Given the description of an element on the screen output the (x, y) to click on. 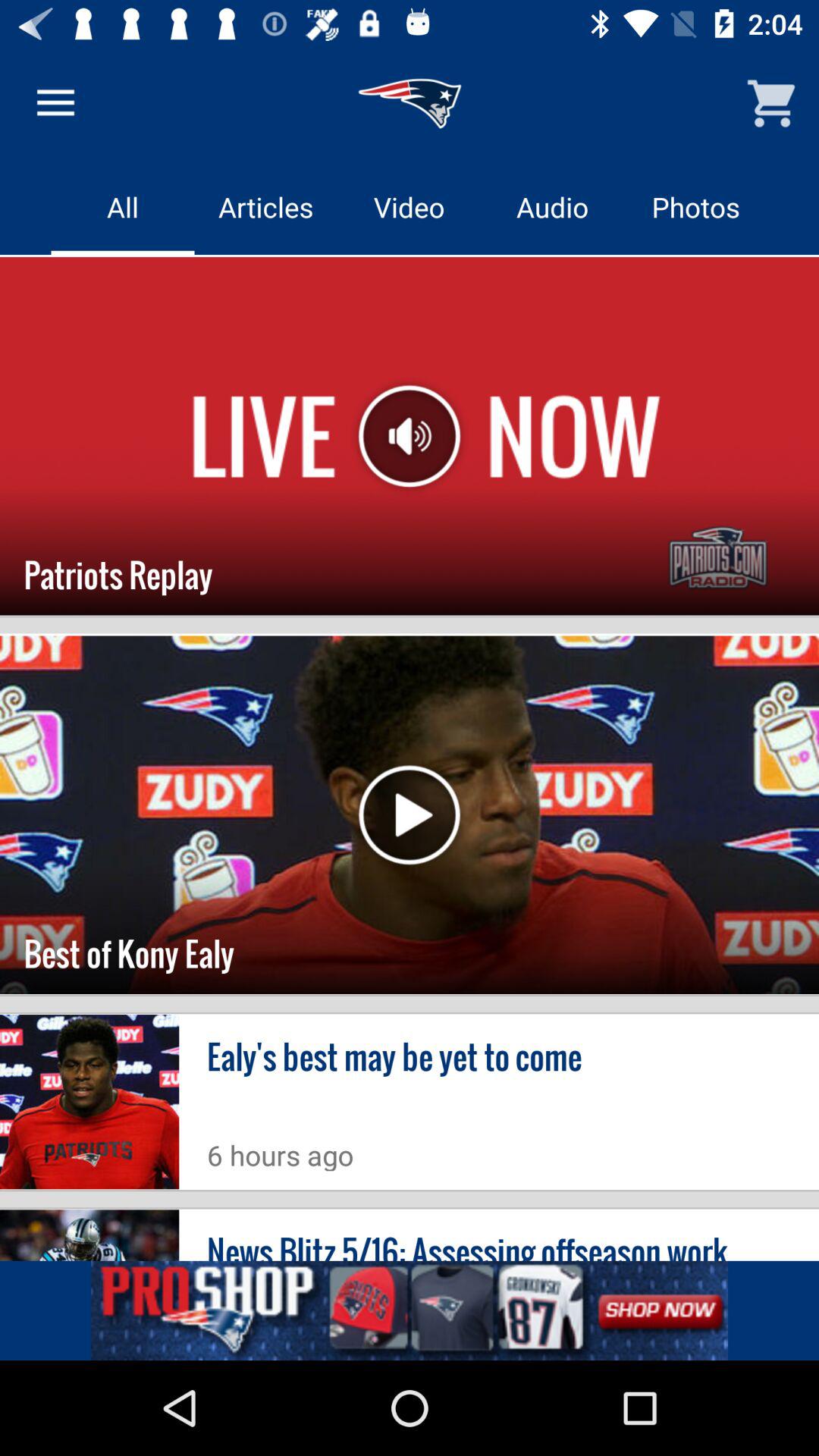
visit sponsor advertisement (409, 1310)
